Given the description of an element on the screen output the (x, y) to click on. 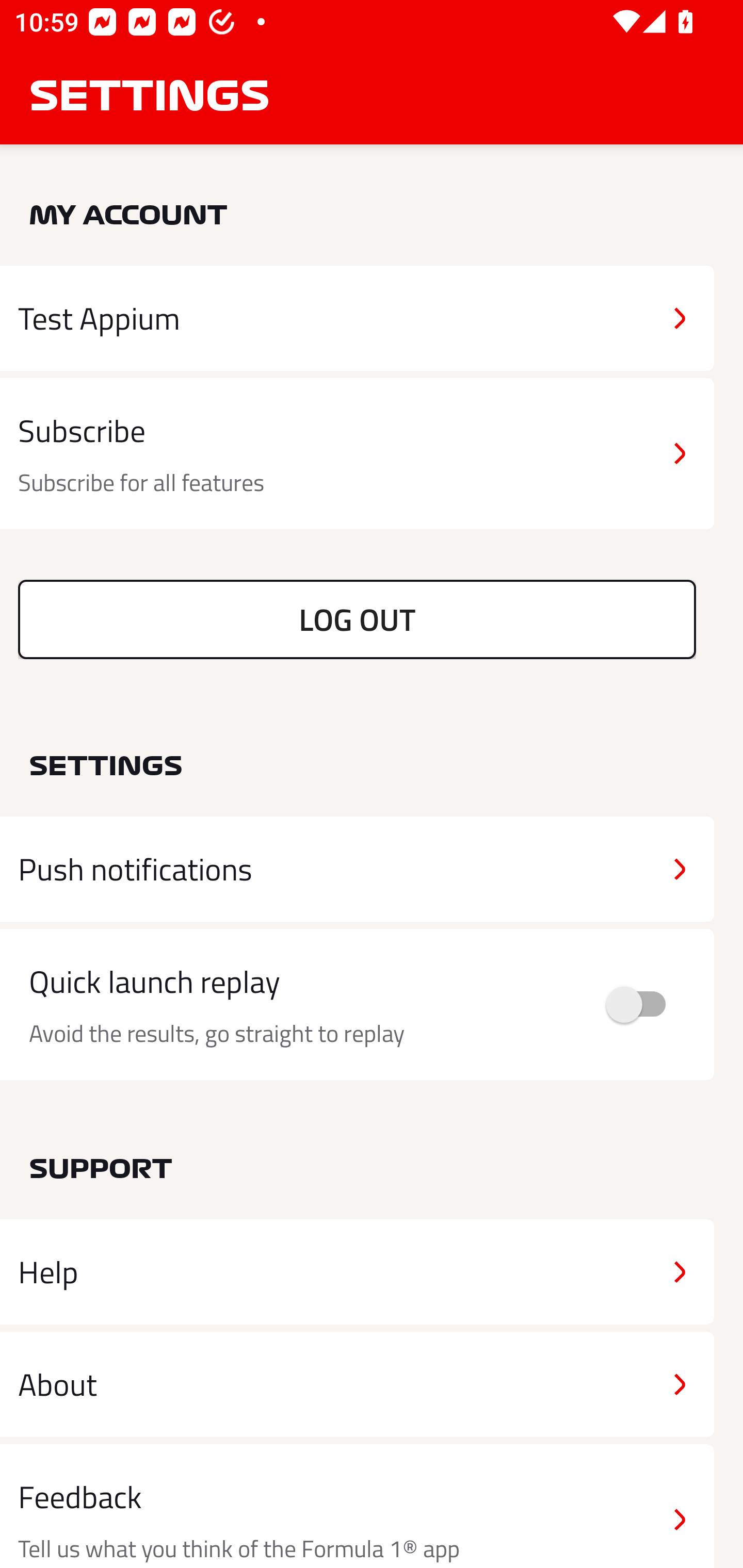
Test Appium (357, 317)
Subscribe Subscribe for all features (357, 453)
LOG OUT (356, 619)
Push notifications (357, 868)
Help (357, 1271)
About (357, 1383)
